Given the description of an element on the screen output the (x, y) to click on. 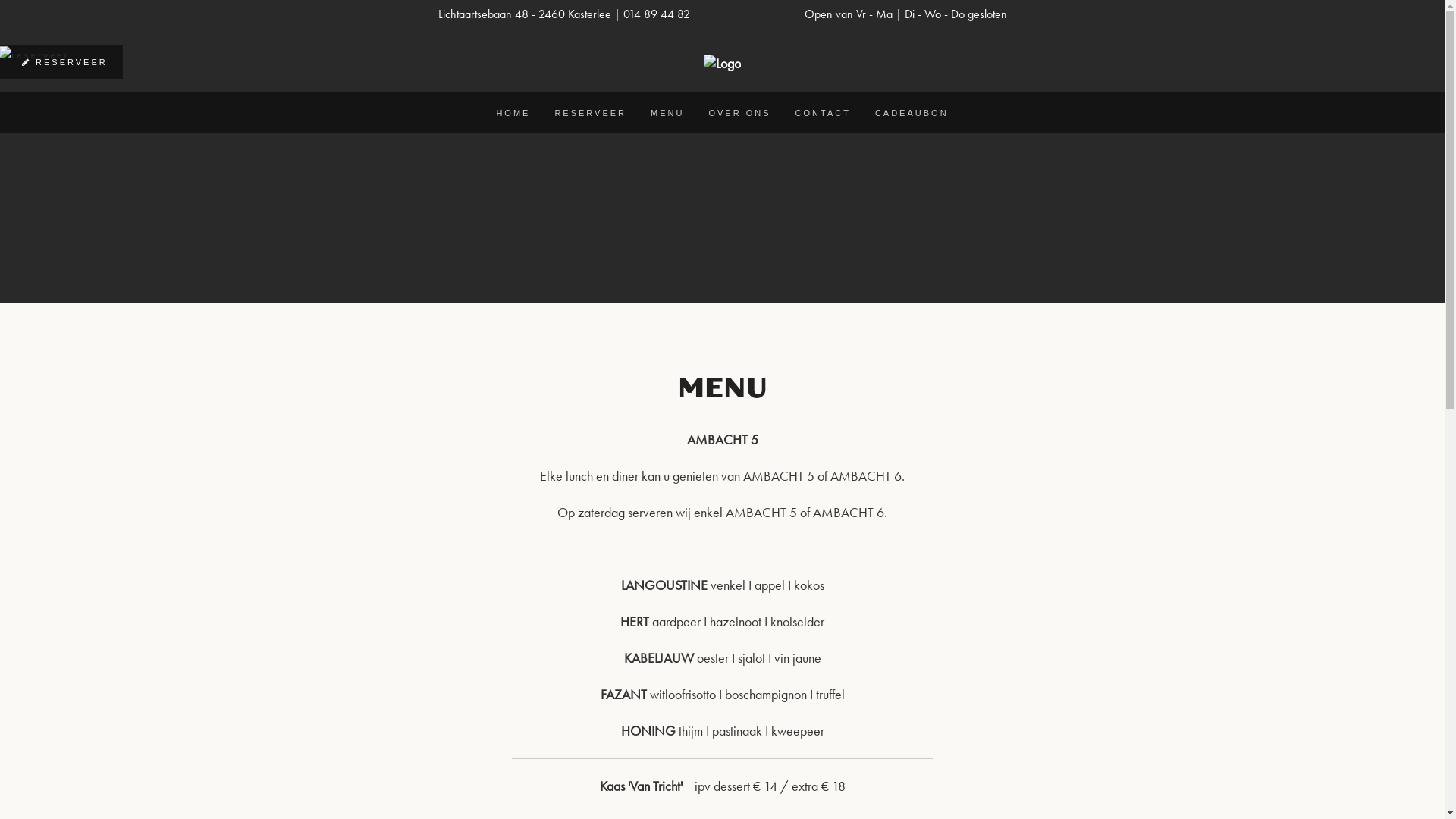
OVER ONS Element type: text (739, 113)
CONTACT Element type: text (822, 113)
014 89 44 82 Element type: text (656, 13)
CADEAUBON Element type: text (911, 113)
MENU Element type: text (667, 113)
HOME Element type: text (512, 113)
RESERVEER Element type: text (590, 113)
